Given the description of an element on the screen output the (x, y) to click on. 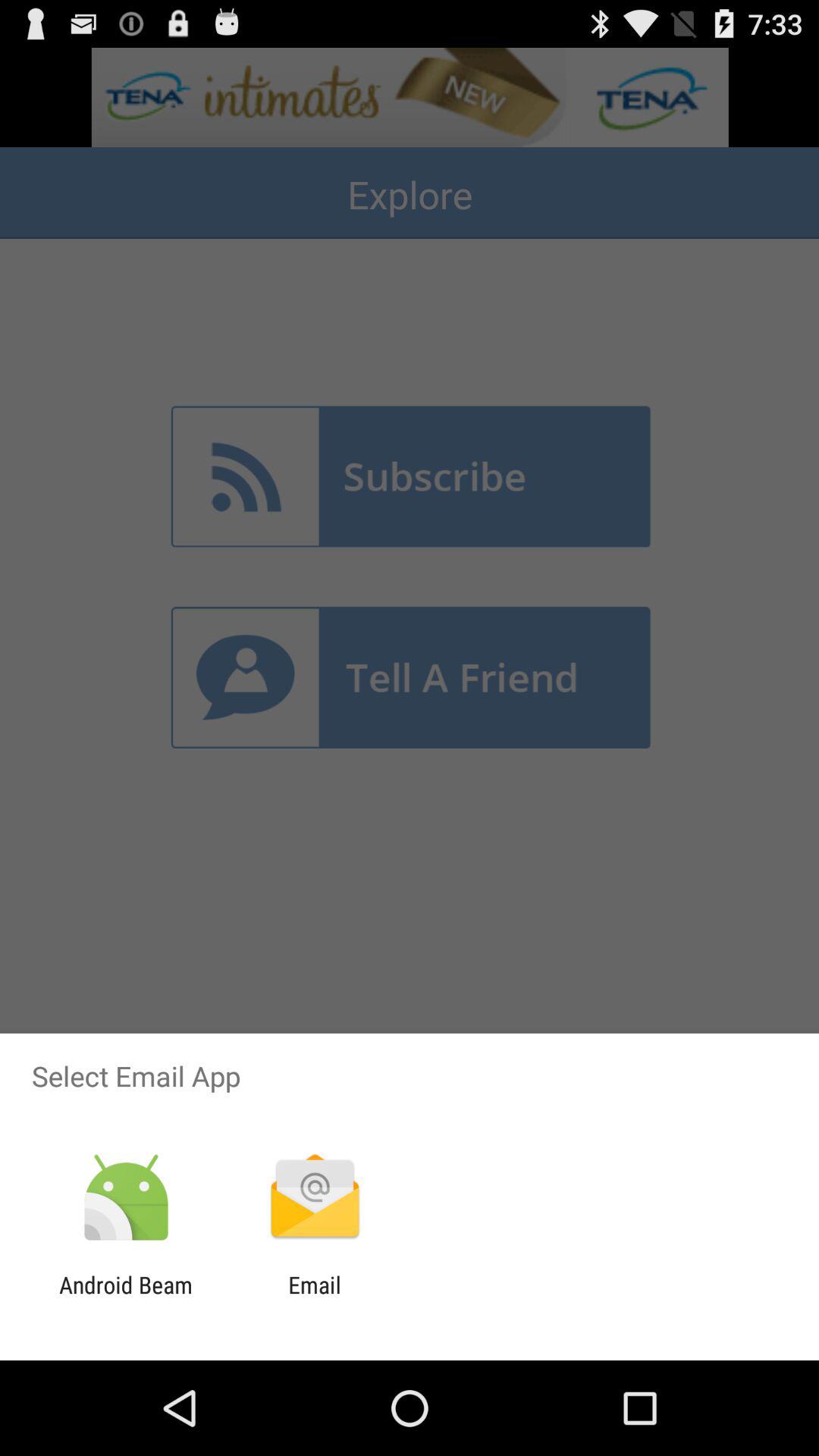
choose the android beam app (125, 1298)
